Given the description of an element on the screen output the (x, y) to click on. 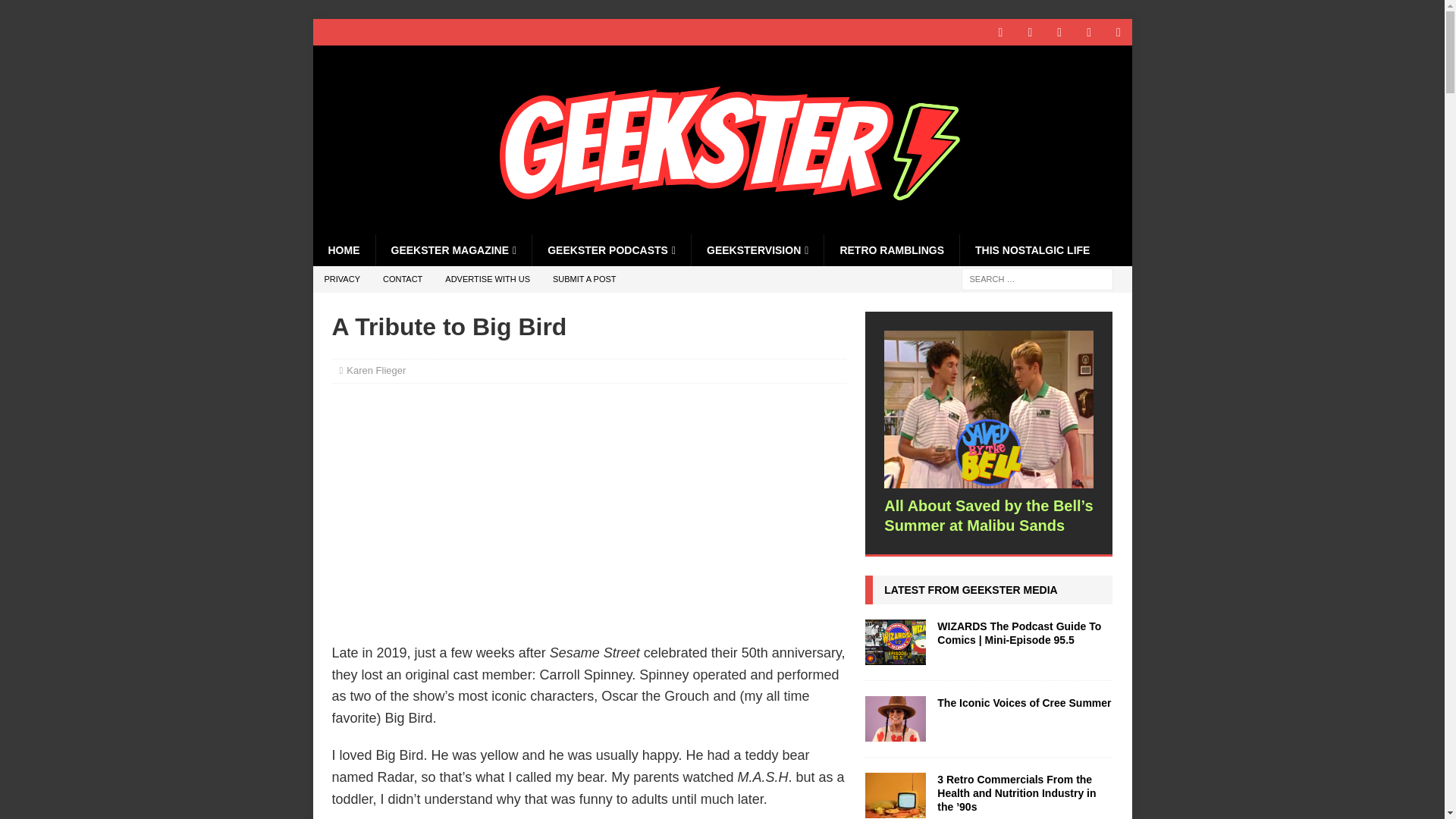
Advertisement (588, 510)
The Retro Network (722, 225)
